Given the description of an element on the screen output the (x, y) to click on. 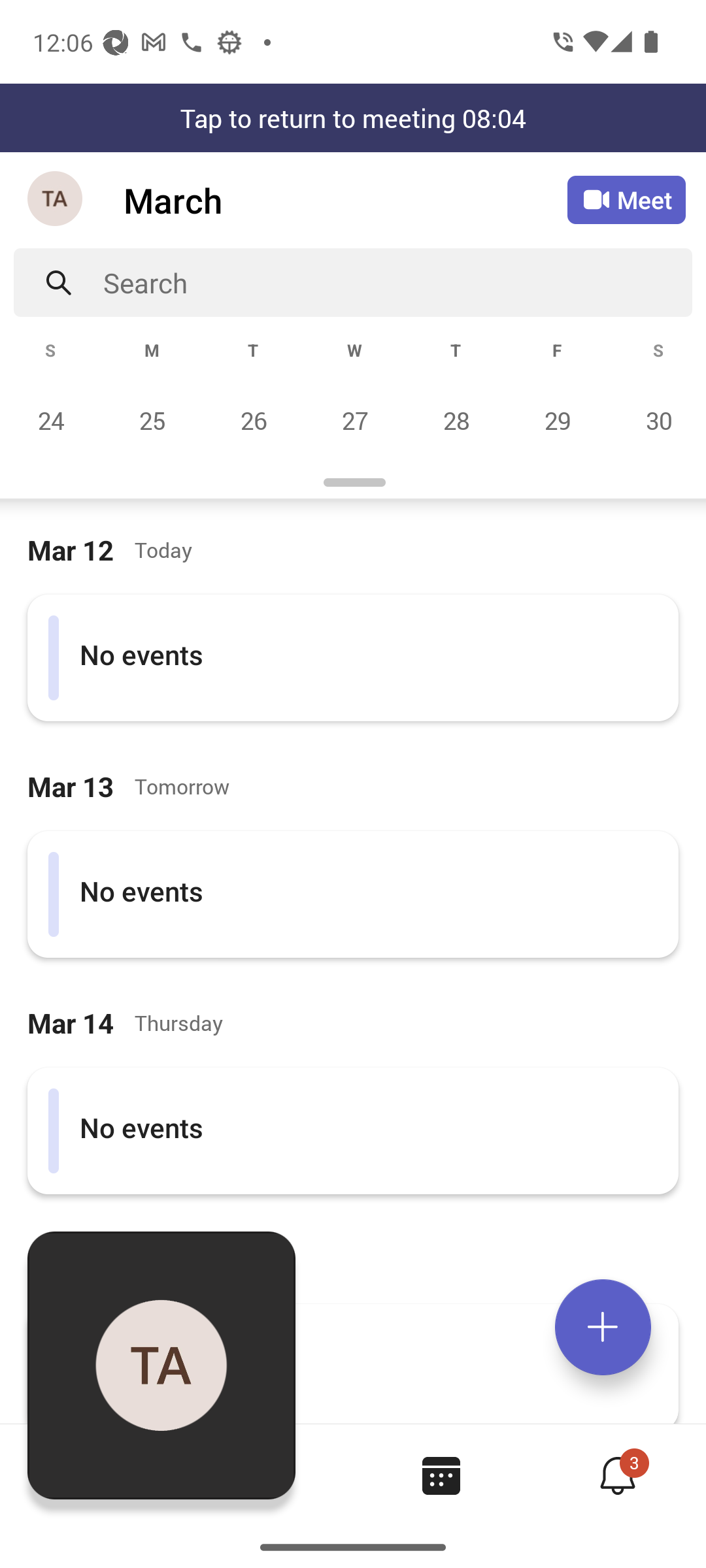
Tap to return to meeting 08:04 (353, 117)
Navigation (56, 199)
Meet Meet now or join with an ID (626, 199)
March March Calendar Agenda View (345, 199)
Search (397, 281)
Sunday, March 24 24 (50, 420)
Monday, March 25 25 (151, 420)
Tuesday, March 26 26 (253, 420)
Wednesday, March 27 27 (354, 420)
Thursday, March 28 28 (455, 420)
Friday, March 29 29 (556, 420)
Saturday, March 30 30 (656, 420)
Expand meetings menu (602, 1327)
Calendar tab, 3 of 4 (441, 1475)
Activity tab,4 of 4, not selected, 3 new 3 (617, 1475)
